Given the description of an element on the screen output the (x, y) to click on. 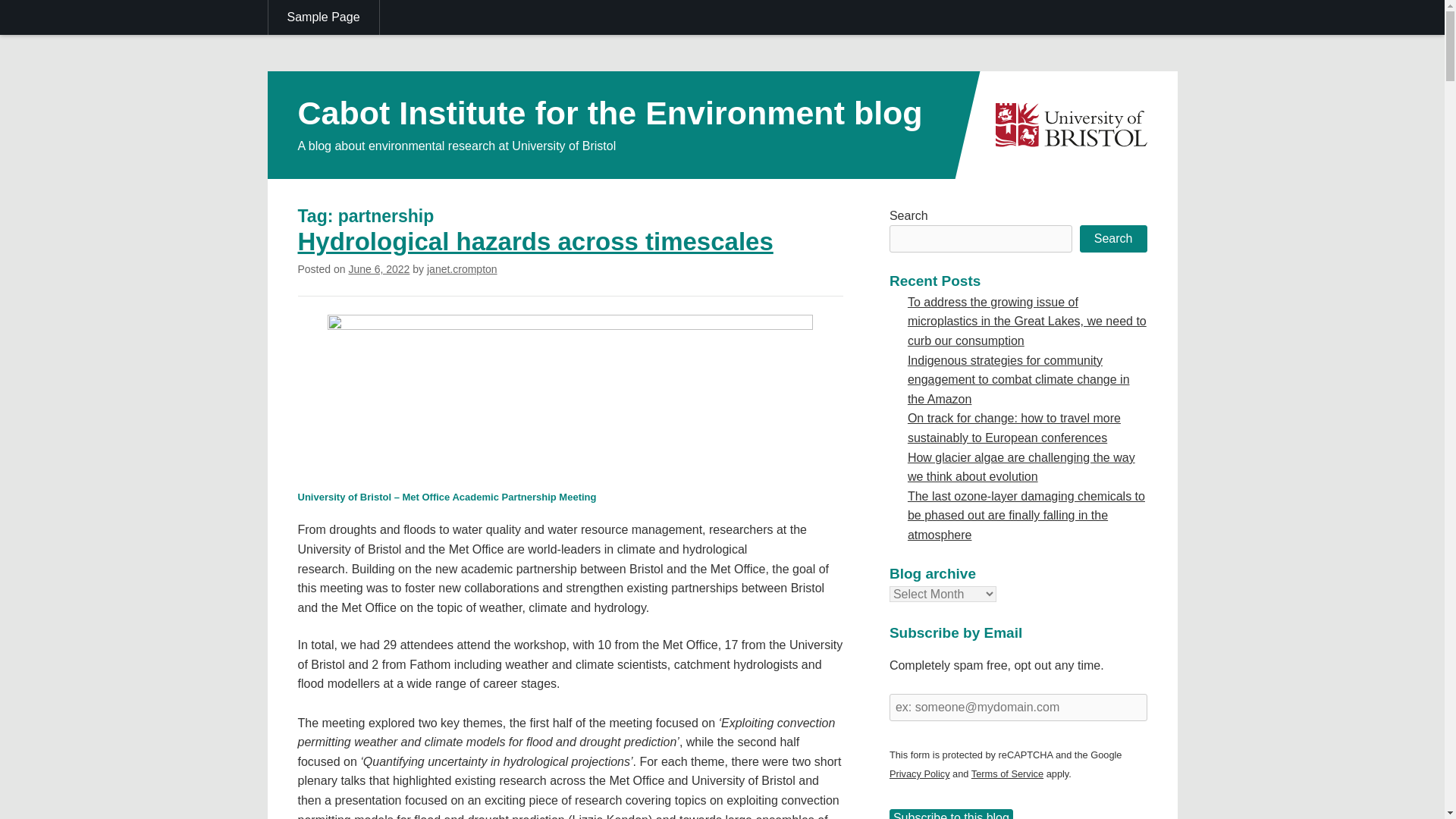
Sample Page (323, 17)
Cabot Institute for the Environment blog (609, 113)
Hydrological hazards across timescales (535, 241)
Subscribe to this blog (951, 814)
June 6, 2022 (378, 268)
janet.crompton (461, 268)
